Given the description of an element on the screen output the (x, y) to click on. 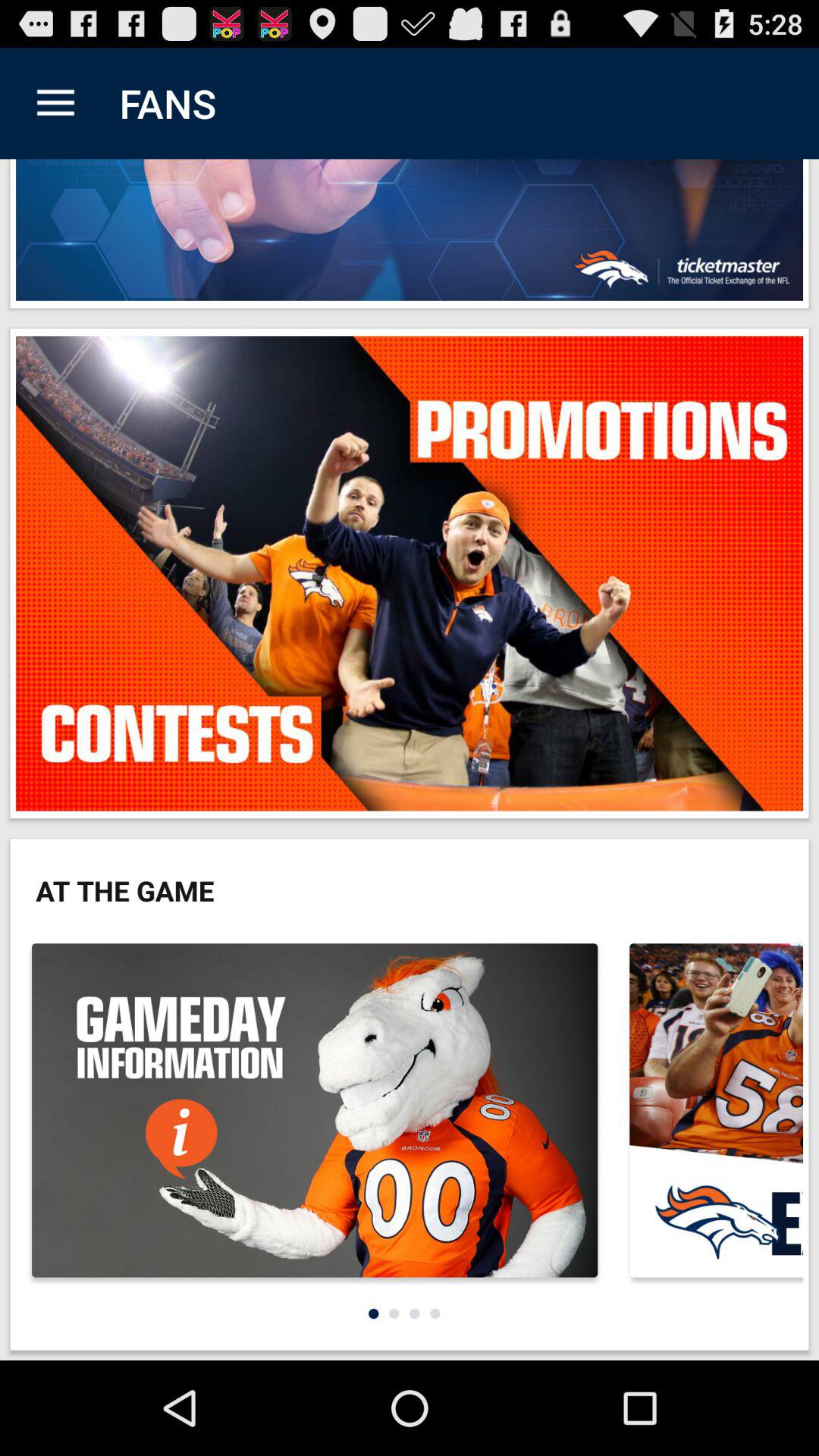
choose icon to the left of the fans item (55, 103)
